Given the description of an element on the screen output the (x, y) to click on. 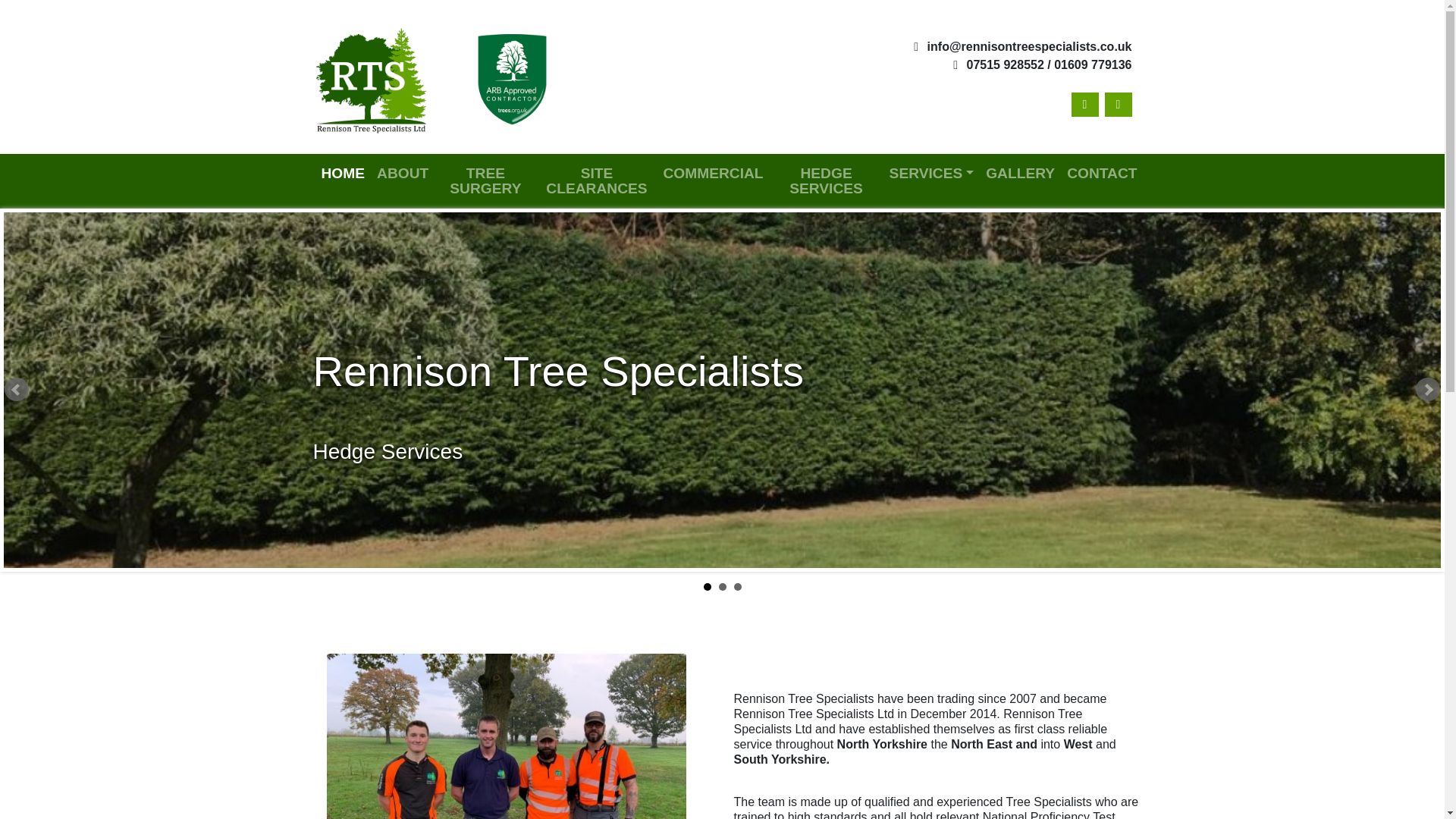
1 (707, 586)
COMMERCIAL (712, 173)
ABOUT (402, 173)
CONTACT (1101, 173)
TREE SURGERY (484, 180)
Prev (16, 389)
Rennison Tree Specialsts (377, 75)
HEDGE SERVICES (826, 180)
2 (722, 586)
HOME (343, 173)
Next (1427, 389)
SERVICES (931, 173)
SITE CLEARANCES (597, 180)
3 (737, 586)
GALLERY (1020, 173)
